Given the description of an element on the screen output the (x, y) to click on. 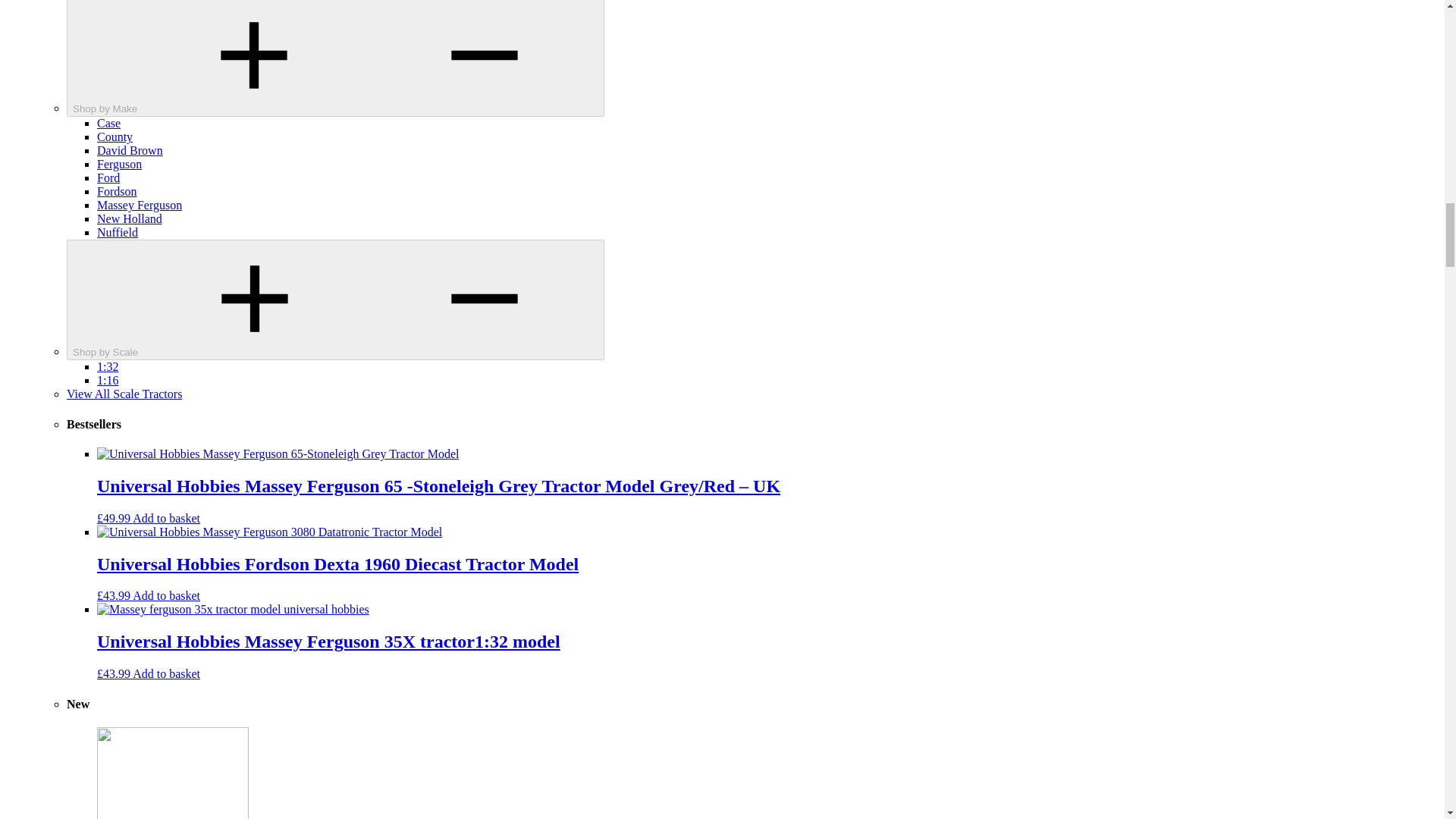
Ford (108, 177)
Nuffield (117, 232)
Shop by Make (335, 58)
Shop by Scale (335, 299)
New Holland (129, 218)
Fordson (116, 191)
Massey Ferguson (139, 205)
Case (108, 123)
Ferguson (119, 164)
David Brown (130, 150)
